Given the description of an element on the screen output the (x, y) to click on. 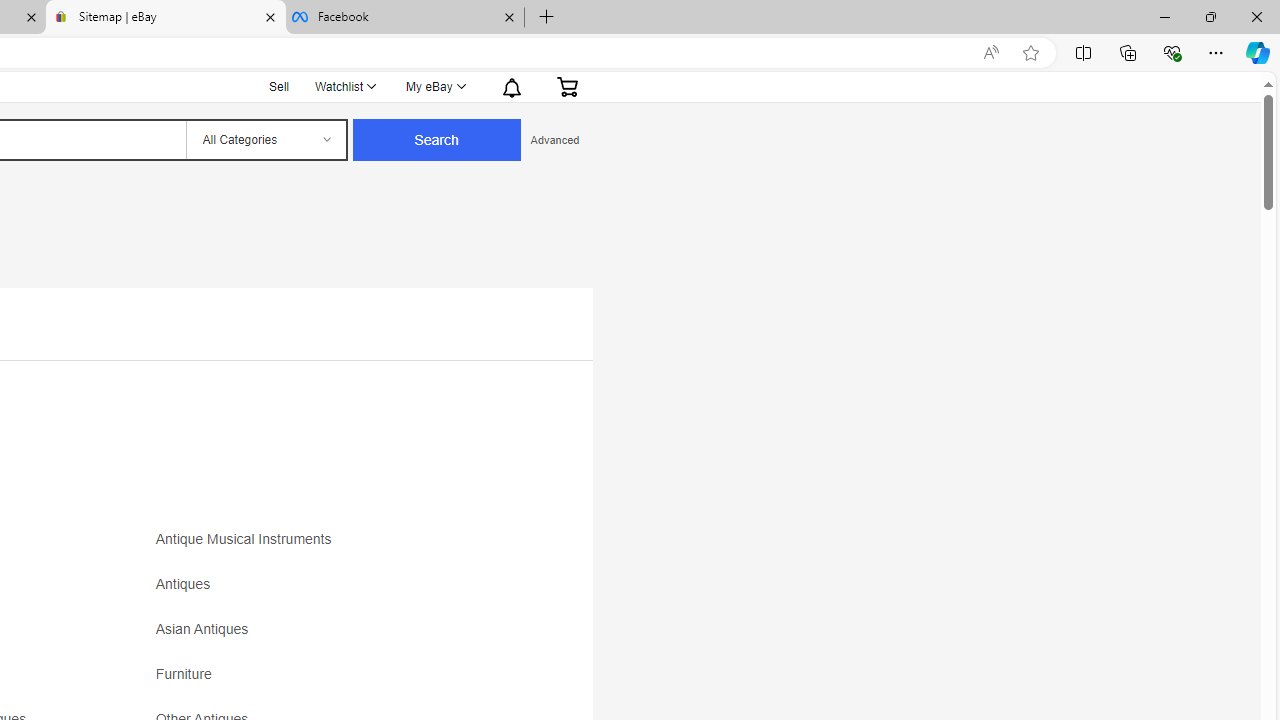
Add this page to favorites (Ctrl+D) (1030, 53)
Antiques (332, 591)
Furniture (187, 673)
Sell (279, 86)
Notification (512, 86)
